Given the description of an element on the screen output the (x, y) to click on. 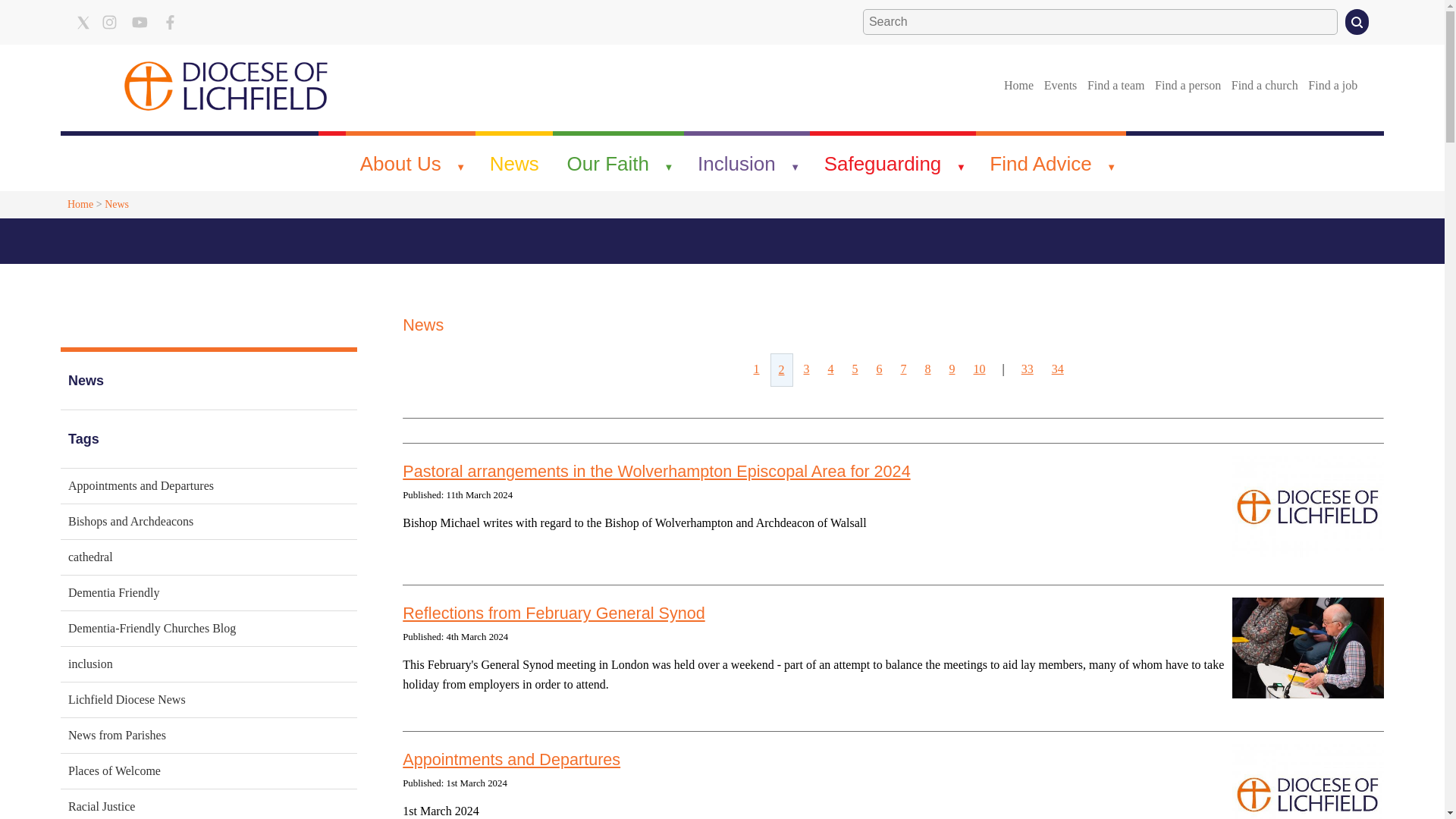
Find a team (1115, 84)
Events (1060, 84)
Find a church (1264, 84)
Find a job (1332, 84)
